Given the description of an element on the screen output the (x, y) to click on. 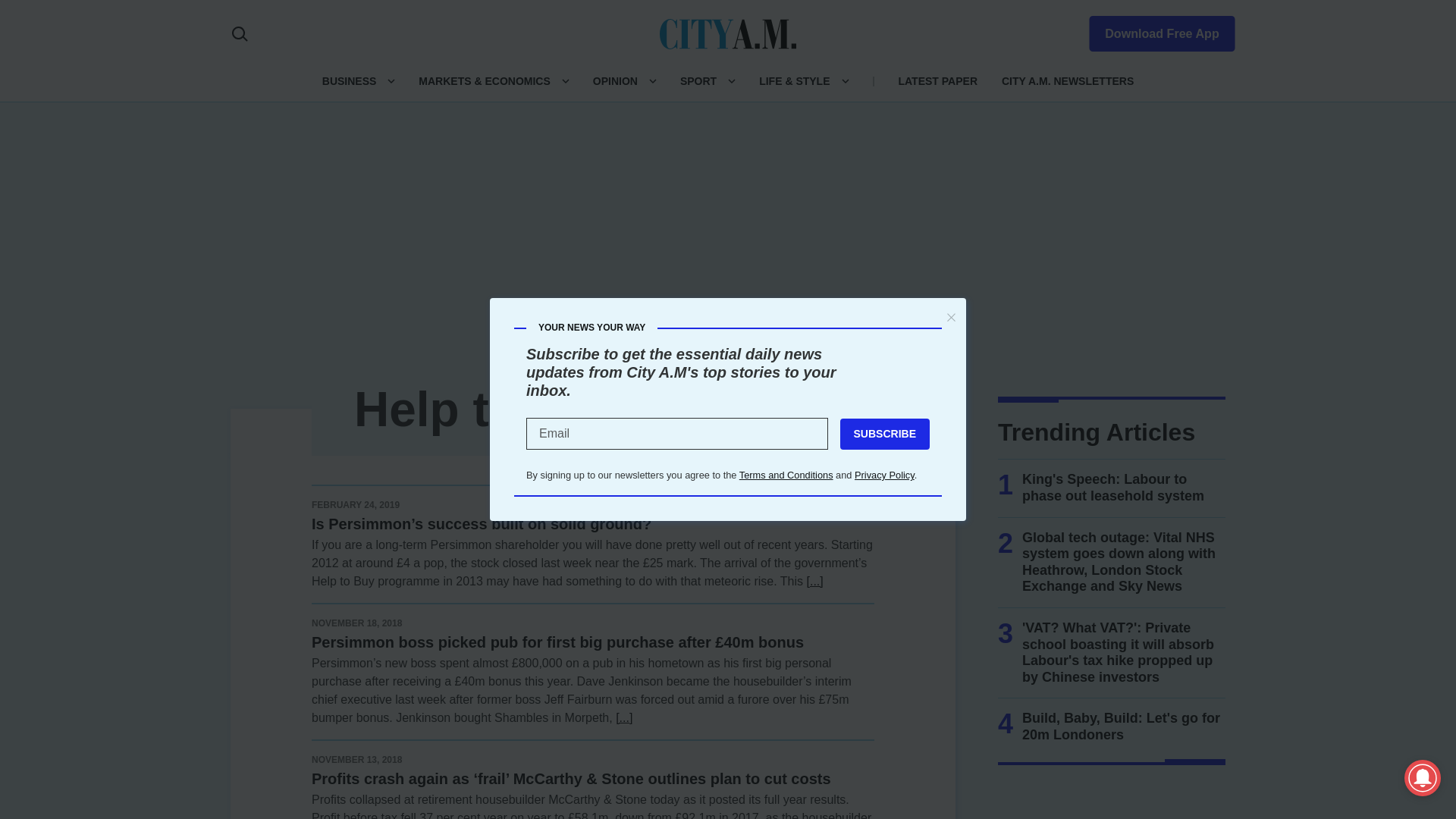
BUSINESS (349, 80)
Download Free App (1152, 30)
CityAM (727, 33)
OPINION (614, 80)
